Given the description of an element on the screen output the (x, y) to click on. 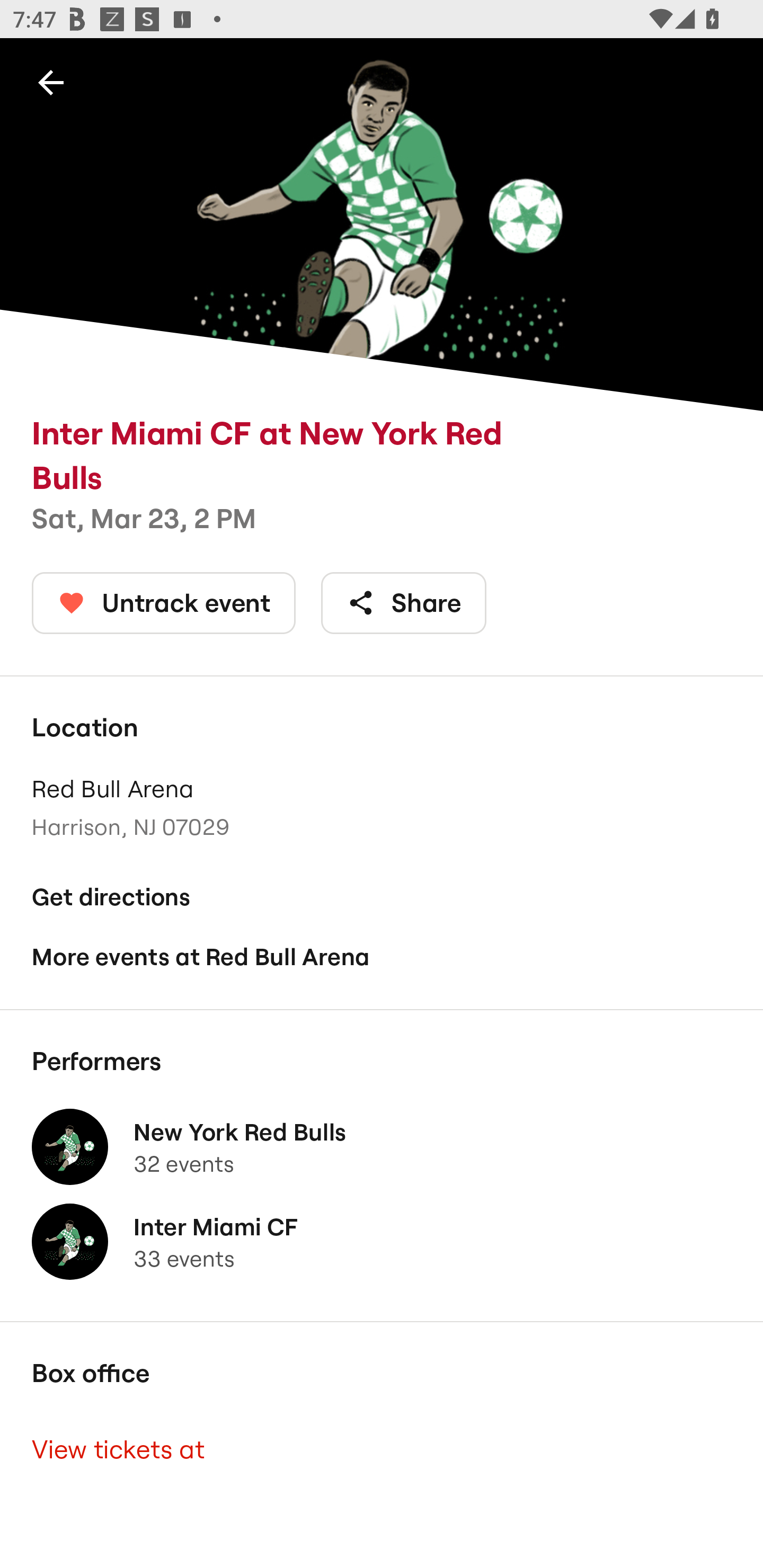
Back (50, 81)
Untrack event (164, 602)
Share (403, 602)
Get directions (381, 896)
More events at Red Bull Arena (381, 956)
New York Red Bulls 32 events (381, 1146)
Inter Miami CF 33 events (381, 1241)
View tickets at  (381, 1449)
